Given the description of an element on the screen output the (x, y) to click on. 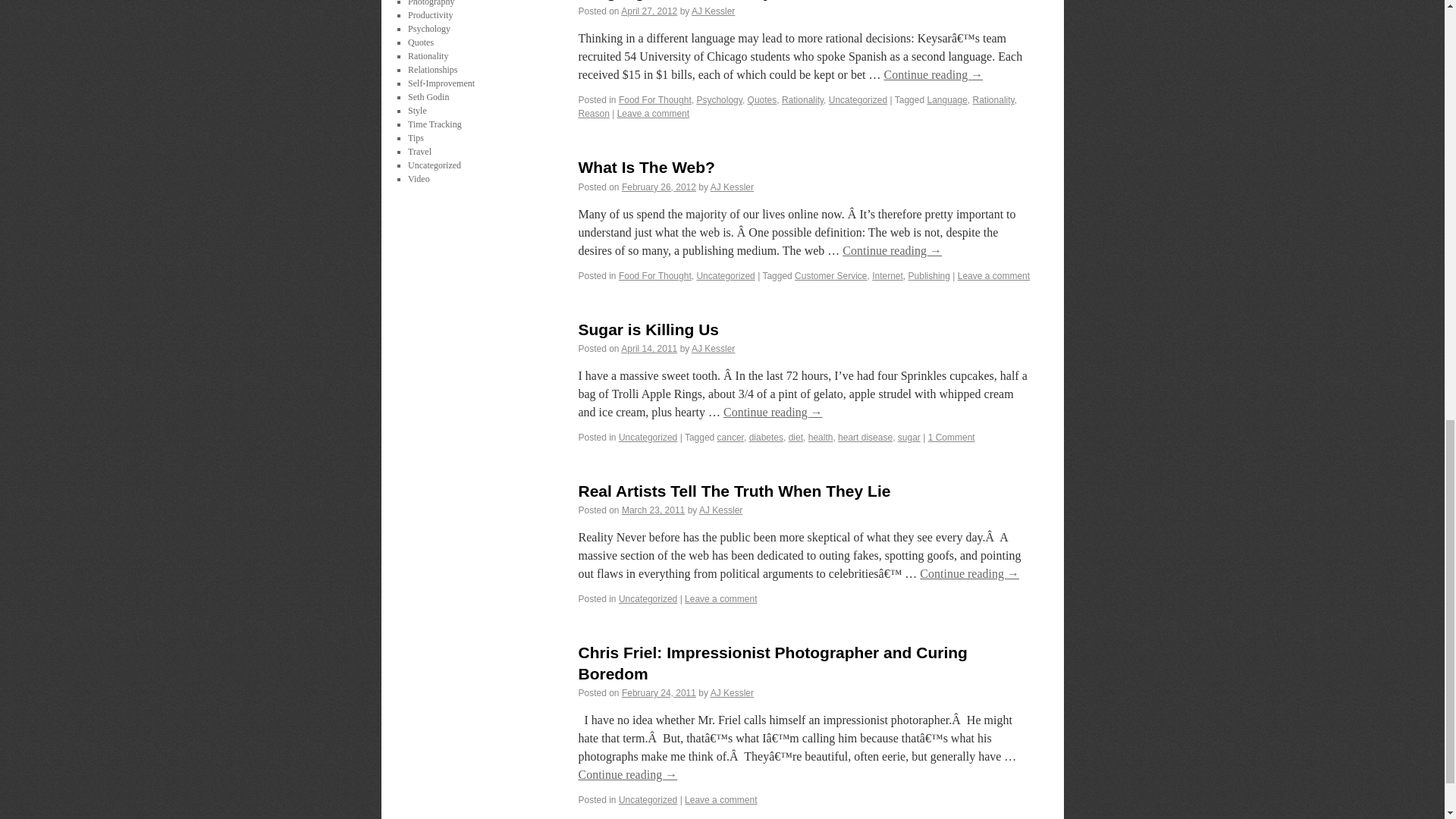
Leave a comment (652, 113)
Rationality (802, 100)
April 27, 2012 (649, 10)
February 26, 2012 (658, 186)
Psychology (718, 100)
10:00 pm (649, 10)
Rationality (993, 100)
View all posts by AJ Kessler (713, 10)
Permalink to What Is The Web? (646, 167)
Uncategorized (857, 100)
Reason (593, 113)
Quotes (762, 100)
What Is The Web? (646, 167)
